Given the description of an element on the screen output the (x, y) to click on. 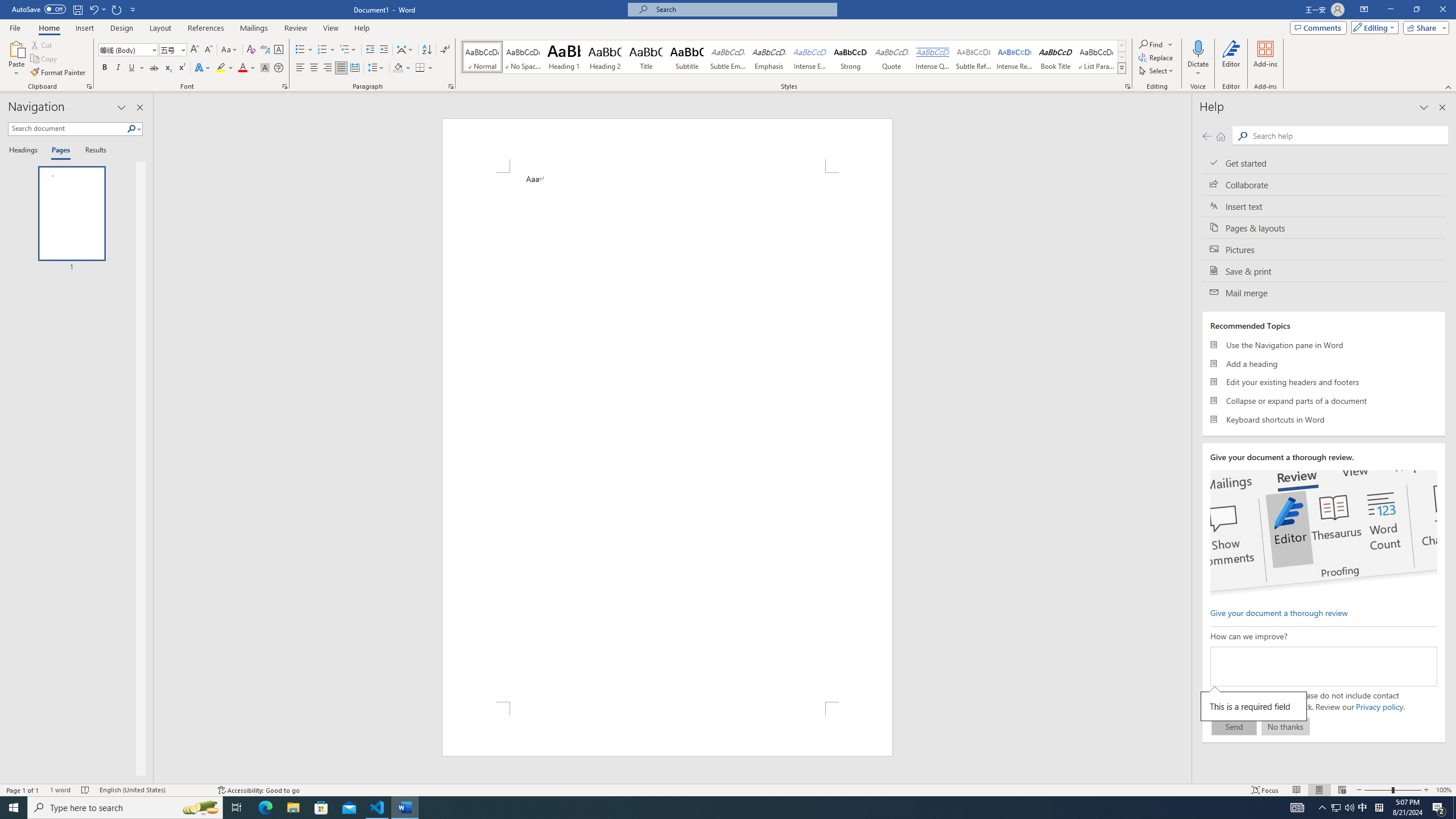
Emphasis (768, 56)
editor ui screenshot (1323, 533)
Keyboard shortcuts in Word (1323, 419)
